Given the description of an element on the screen output the (x, y) to click on. 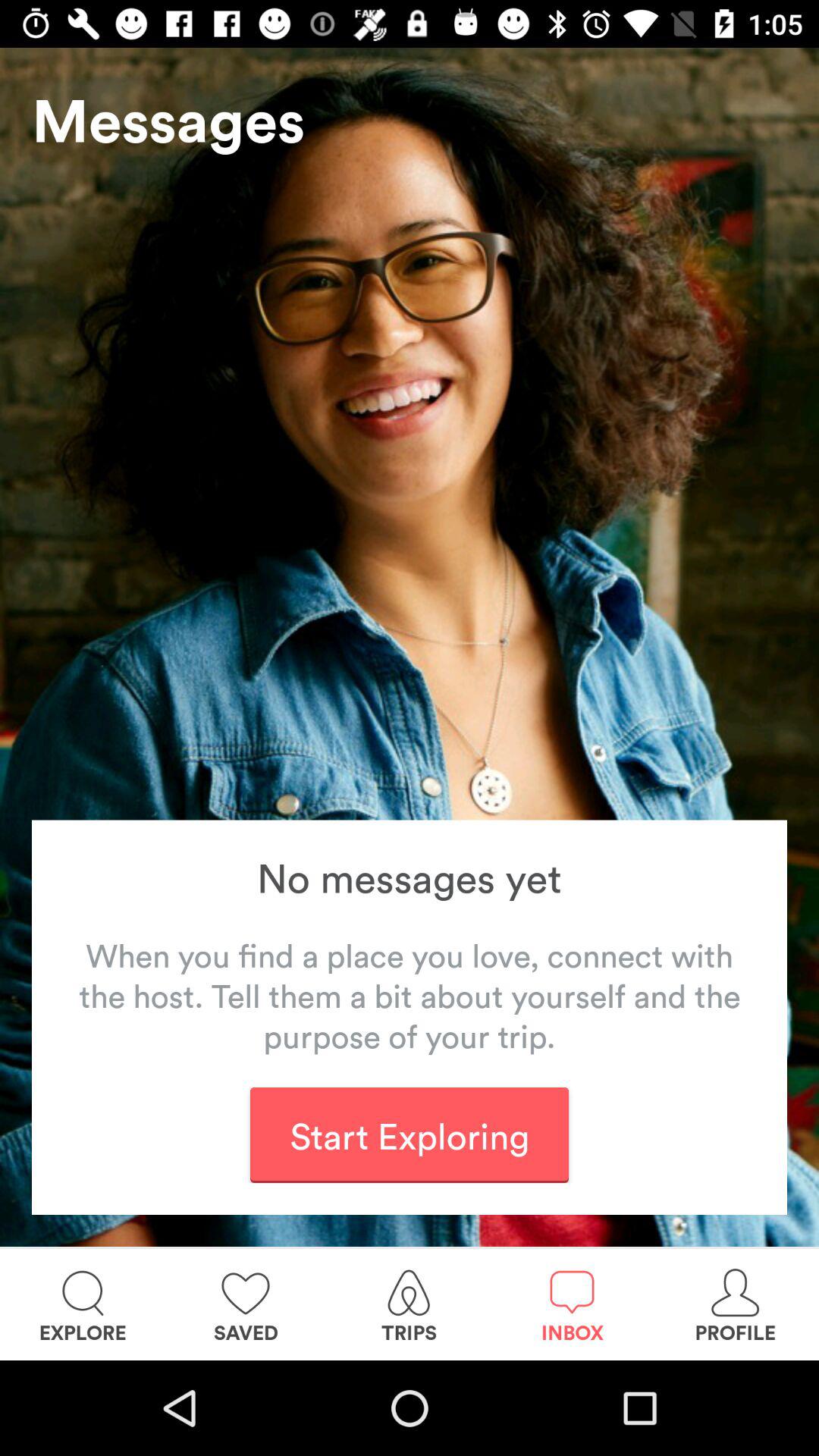
select the start exploring (409, 1135)
